Given the description of an element on the screen output the (x, y) to click on. 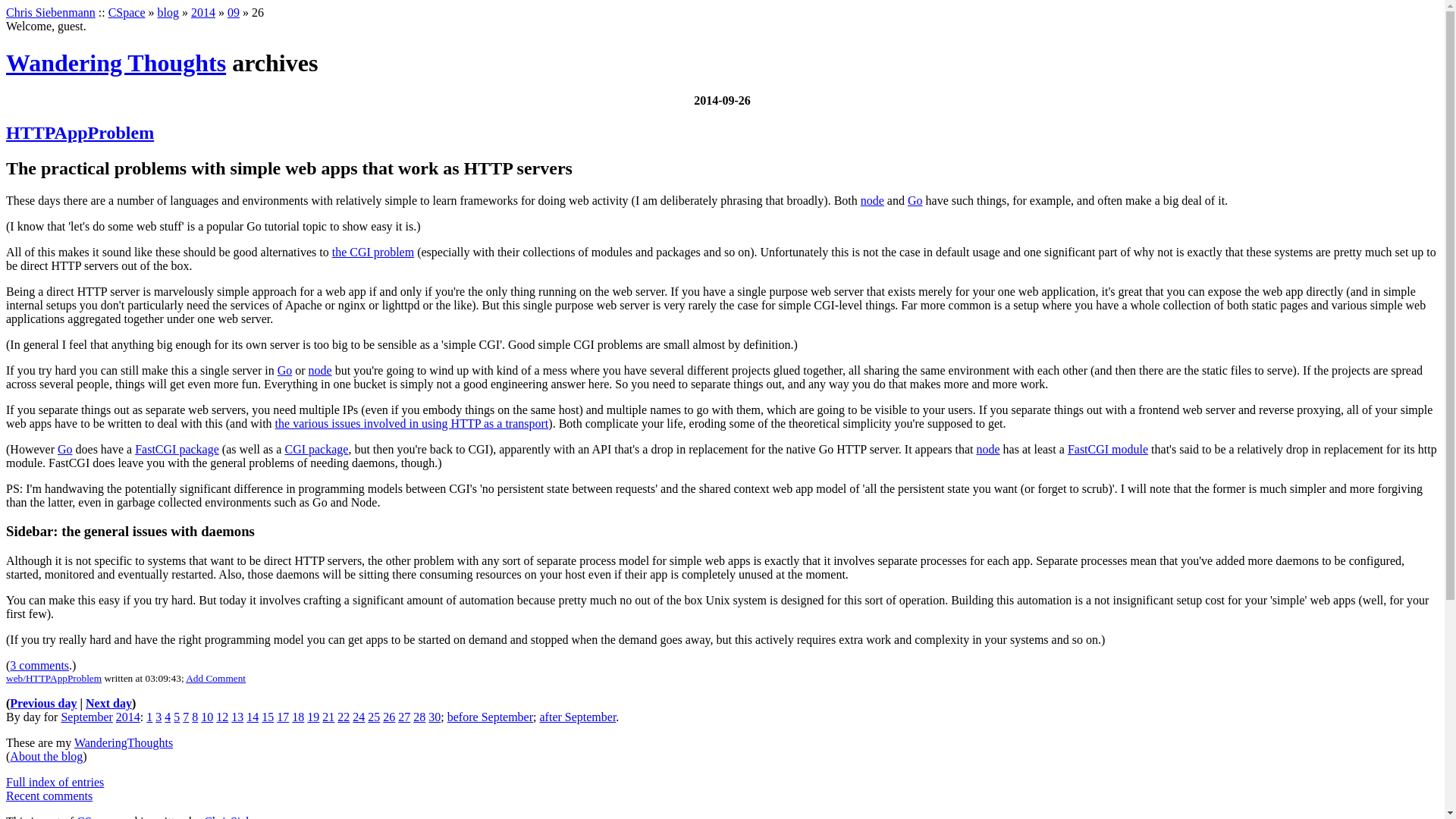
09 (233, 11)
18 (298, 716)
FastCGI package (177, 449)
19 (312, 716)
Previous day (43, 703)
13 (237, 716)
14 (252, 716)
3 comments (39, 665)
CGI package (315, 449)
10 (206, 716)
the CGI problem (372, 251)
Wandering Thoughts (115, 62)
node (319, 369)
12 (221, 716)
21 (327, 716)
